Given the description of an element on the screen output the (x, y) to click on. 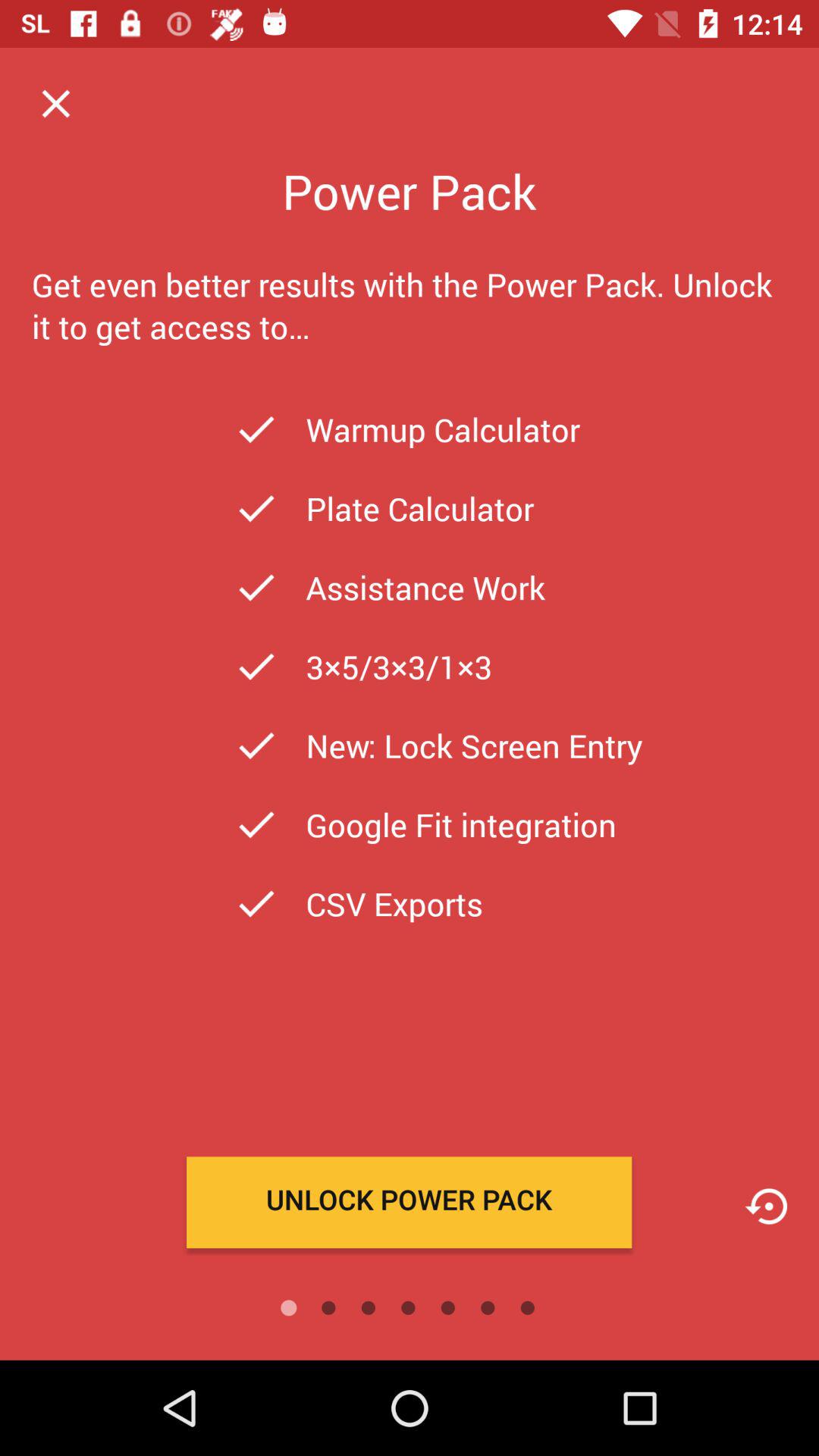
close tap (55, 103)
